Given the description of an element on the screen output the (x, y) to click on. 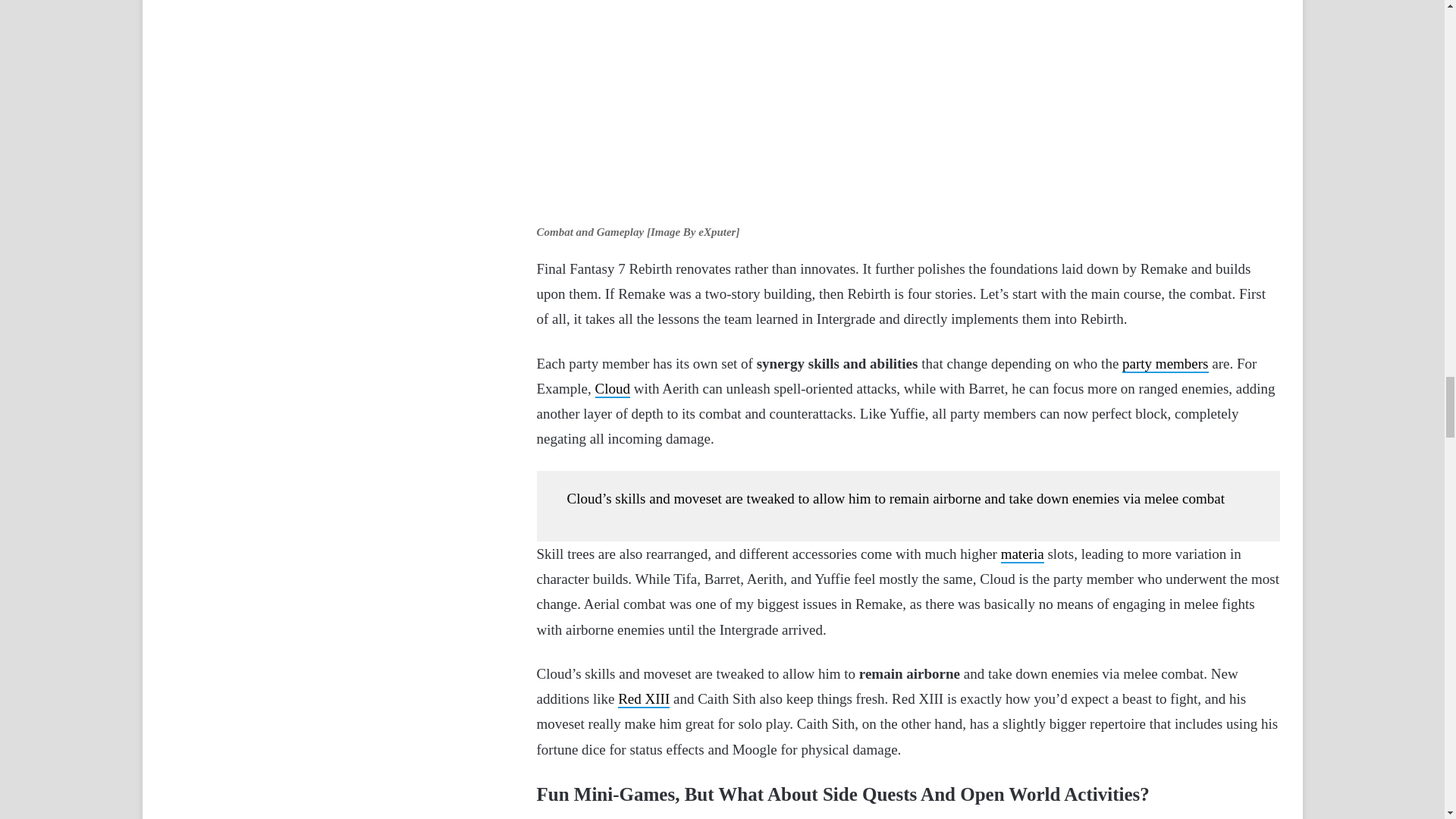
materia (1022, 554)
Red XIII (643, 699)
party members (1165, 364)
Cloud (612, 389)
